Given the description of an element on the screen output the (x, y) to click on. 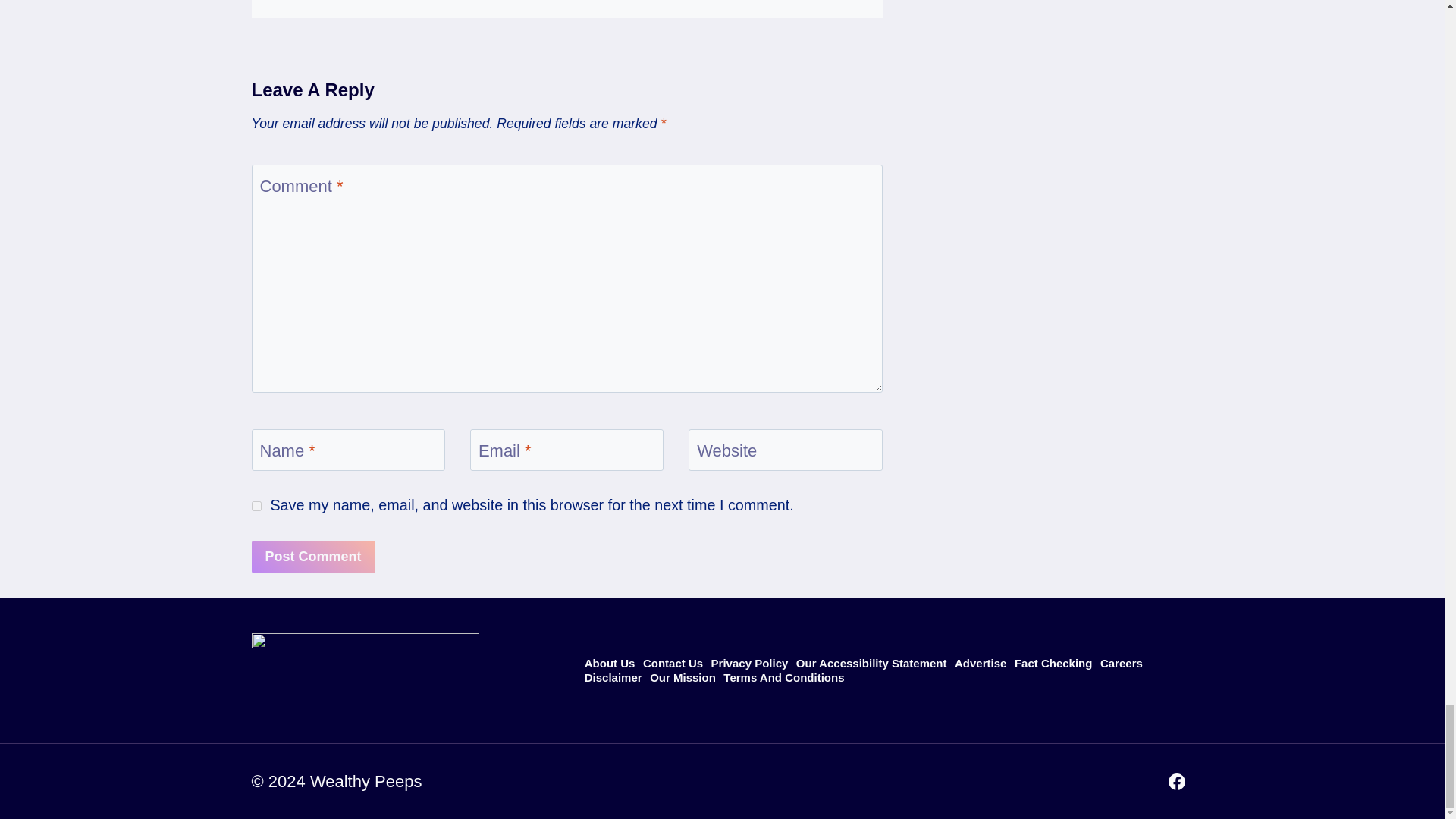
yes (256, 506)
Post Comment (313, 556)
